Given the description of an element on the screen output the (x, y) to click on. 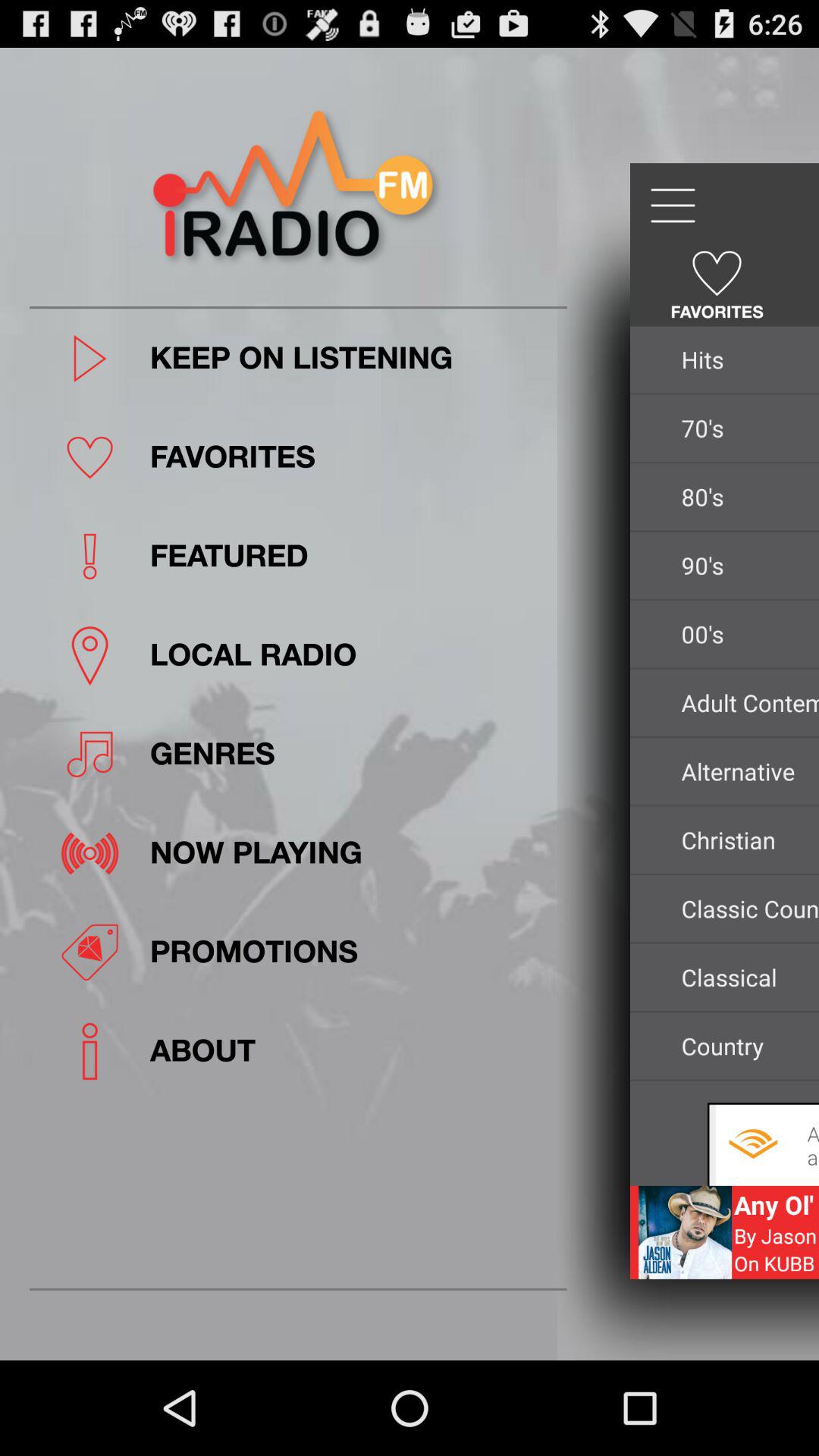
close more options (672, 205)
